Given the description of an element on the screen output the (x, y) to click on. 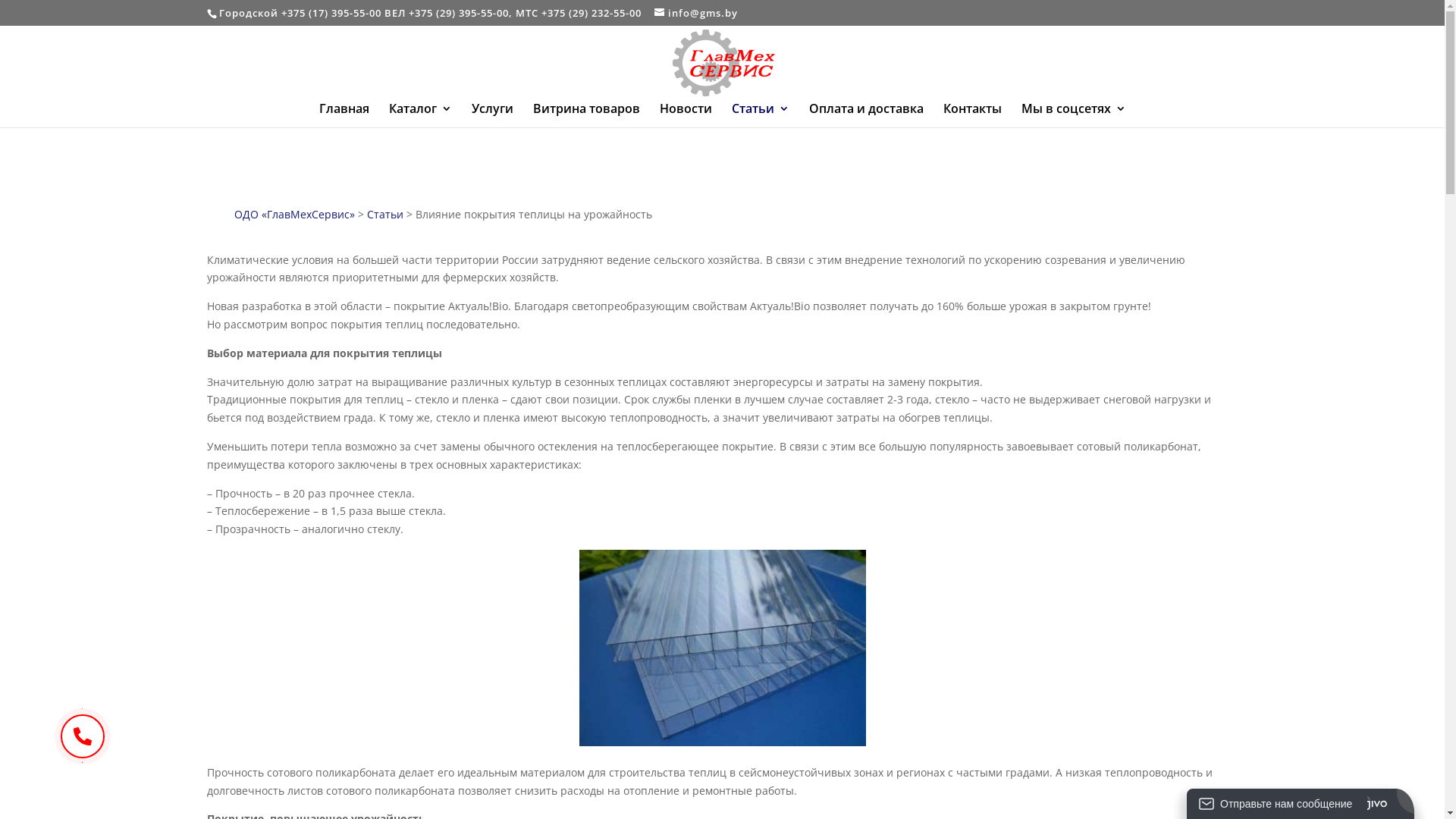
+375 (29) 232-55-00 Element type: text (591, 12)
+375 (17) 395-55-00 Element type: text (330, 12)
info@gms.by Element type: text (695, 12)
+375 (29) 395-55-00 Element type: text (457, 12)
